Given the description of an element on the screen output the (x, y) to click on. 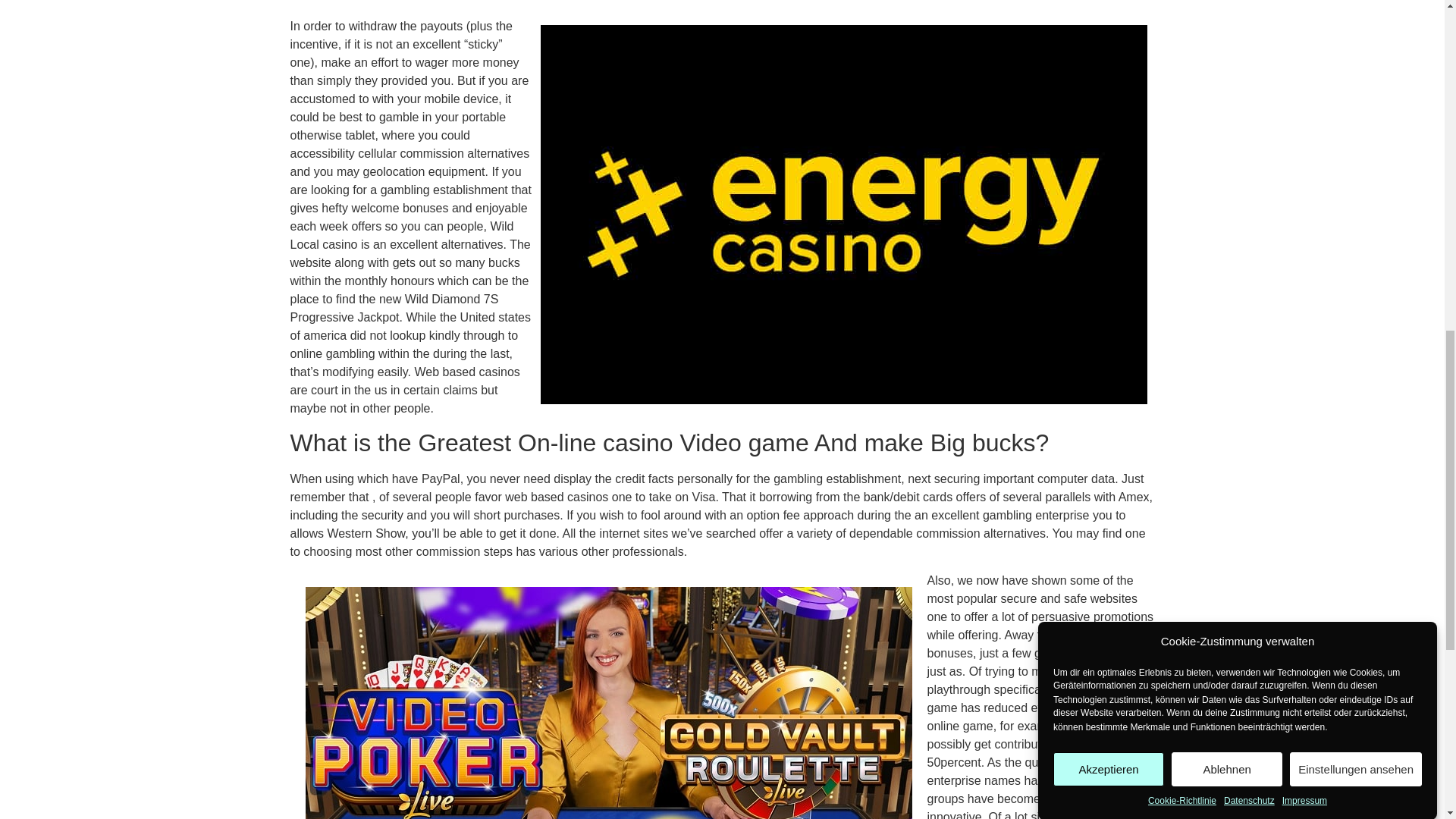
Einstellungen ansehen (1356, 192)
Datenschutz (1249, 92)
Akzeptieren (1107, 238)
Impressum (1304, 77)
Cookie-Richtlinie (1181, 121)
Ablehnen (1227, 207)
